Given the description of an element on the screen output the (x, y) to click on. 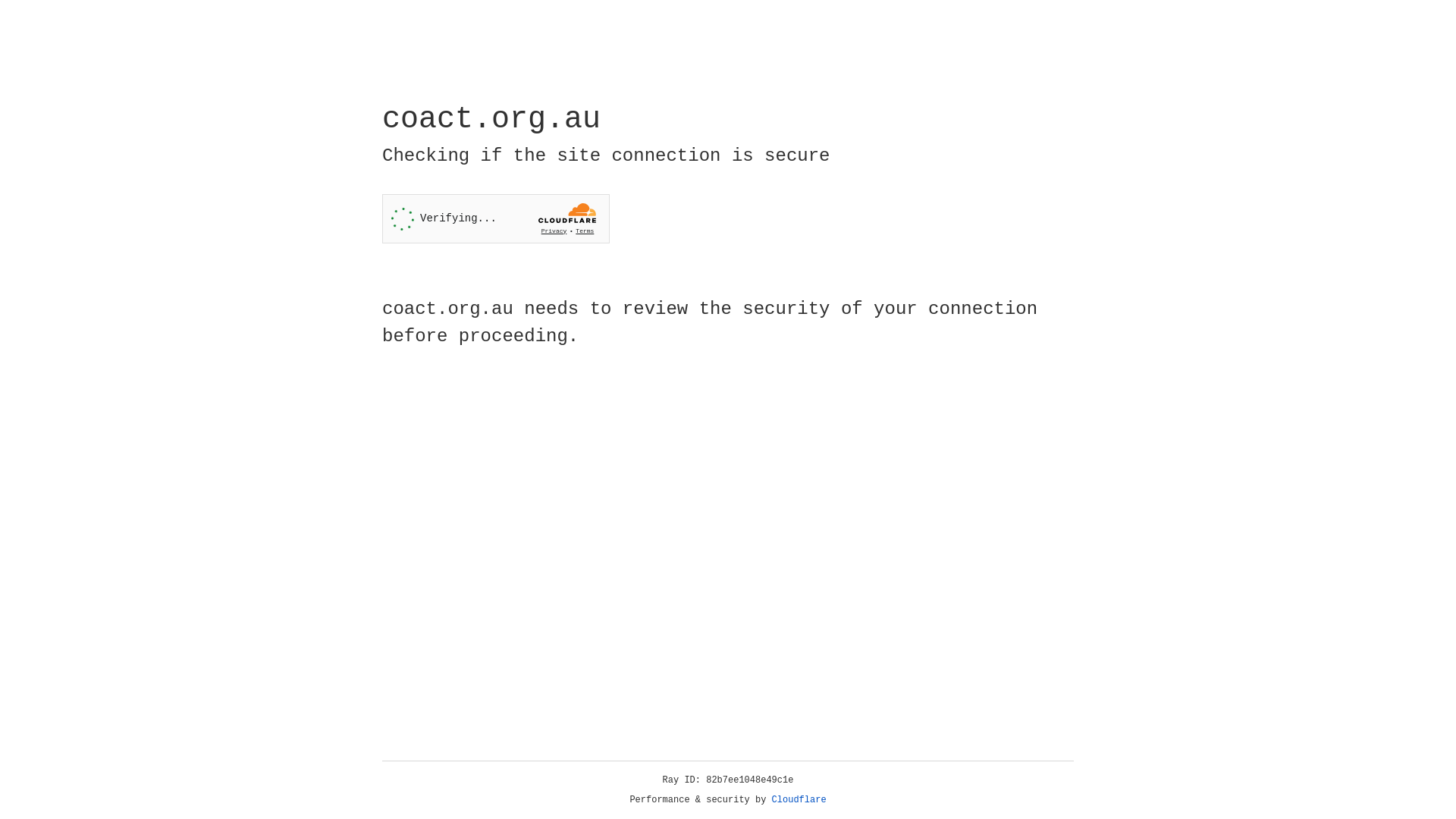
Widget containing a Cloudflare security challenge Element type: hover (495, 218)
Cloudflare Element type: text (798, 799)
